Given the description of an element on the screen output the (x, y) to click on. 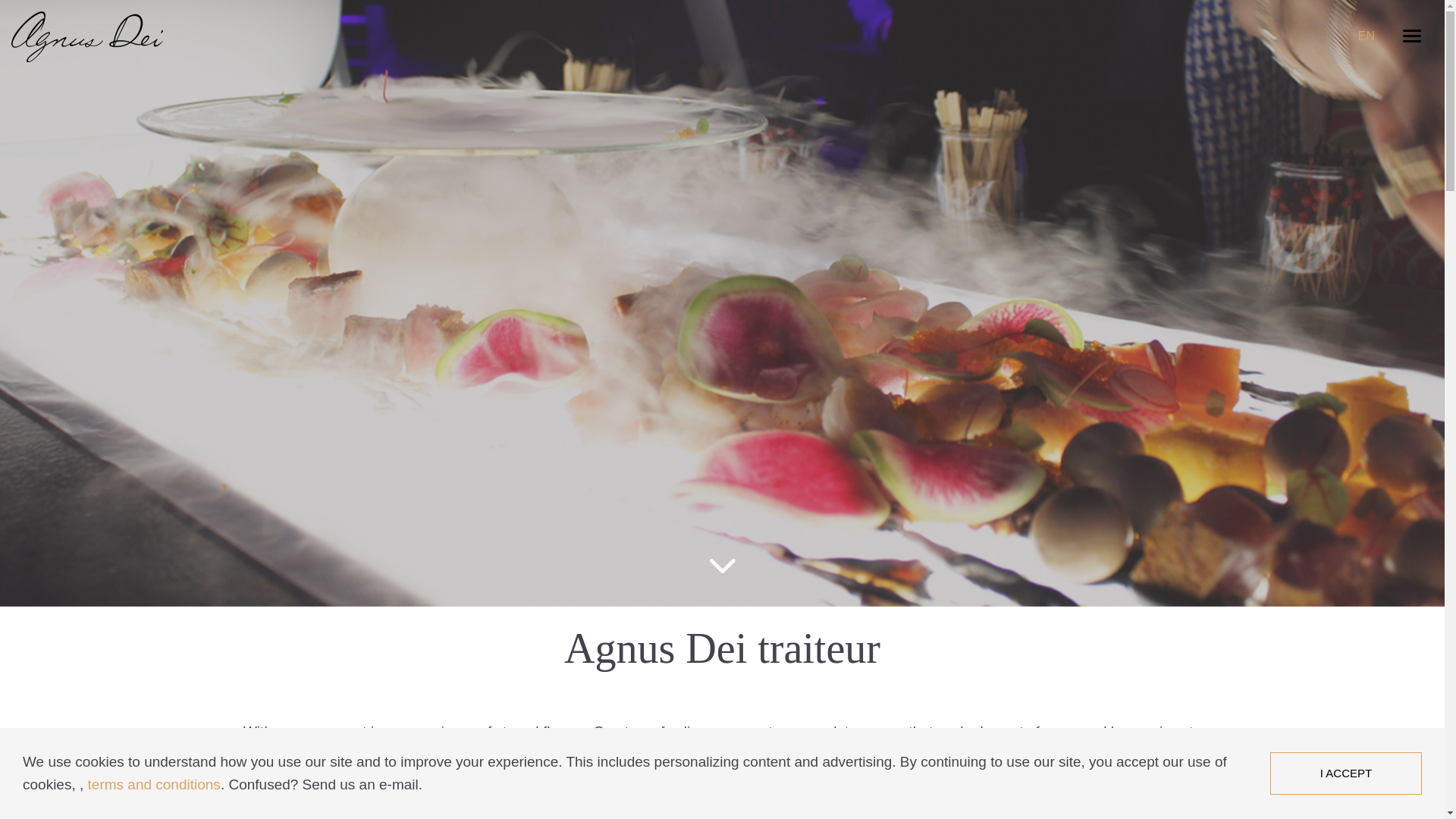
terms and conditions Element type: text (153, 784)
EN Element type: text (1366, 35)
I ACCEPT Element type: text (1345, 773)
